Given the description of an element on the screen output the (x, y) to click on. 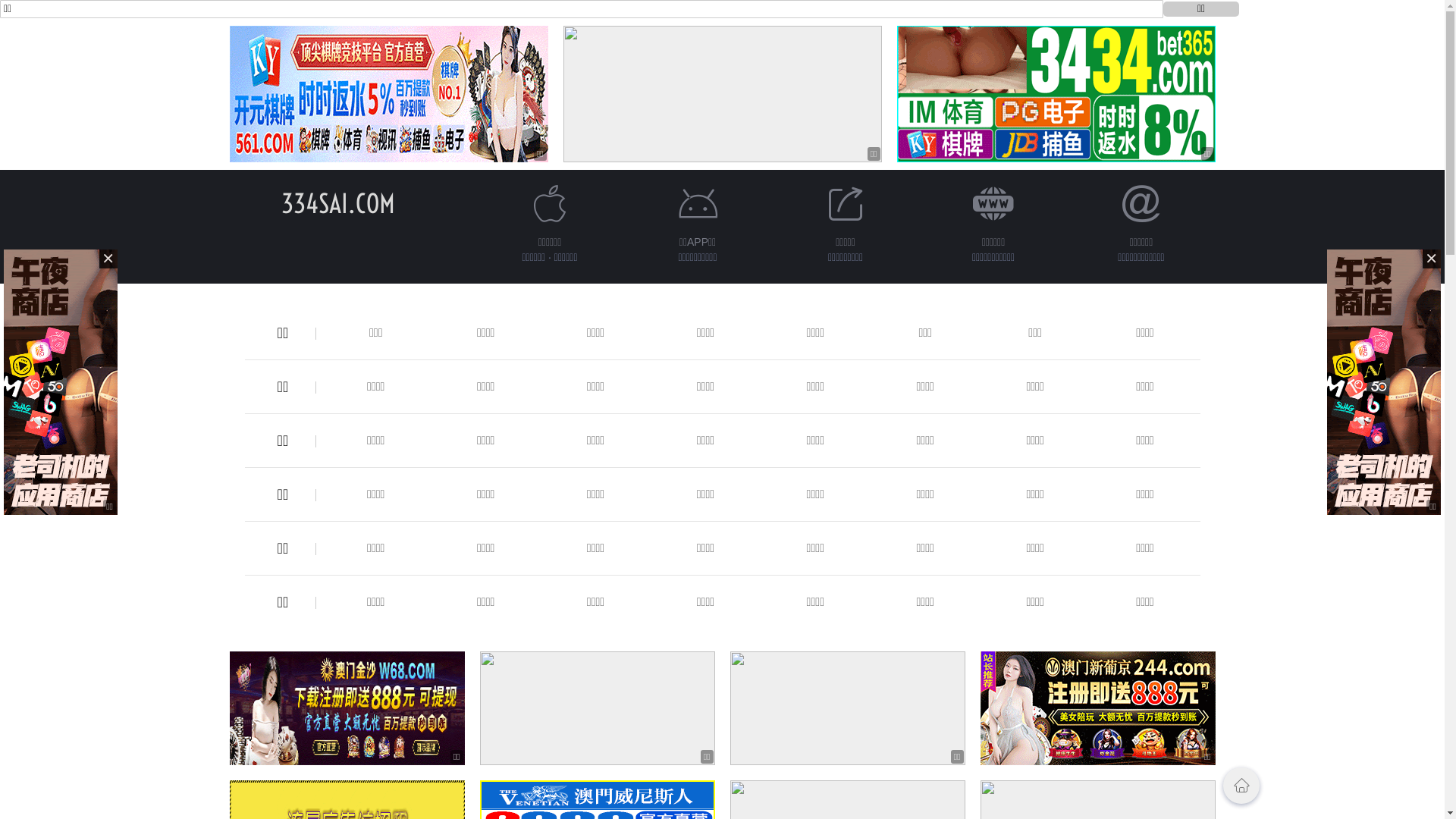
334SAI.COM Element type: text (337, 203)
